Given the description of an element on the screen output the (x, y) to click on. 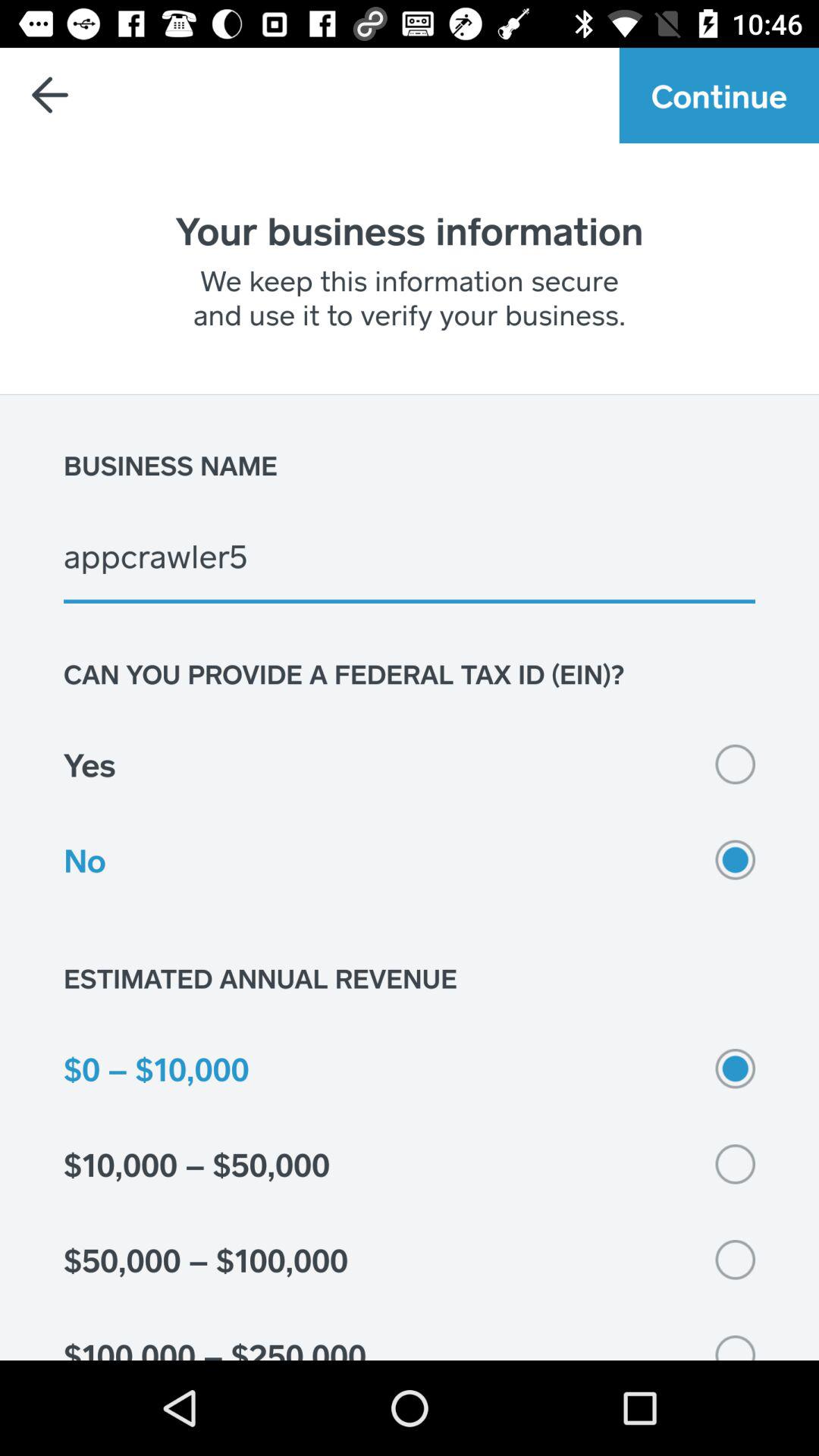
choose the icon below yes (409, 859)
